Given the description of an element on the screen output the (x, y) to click on. 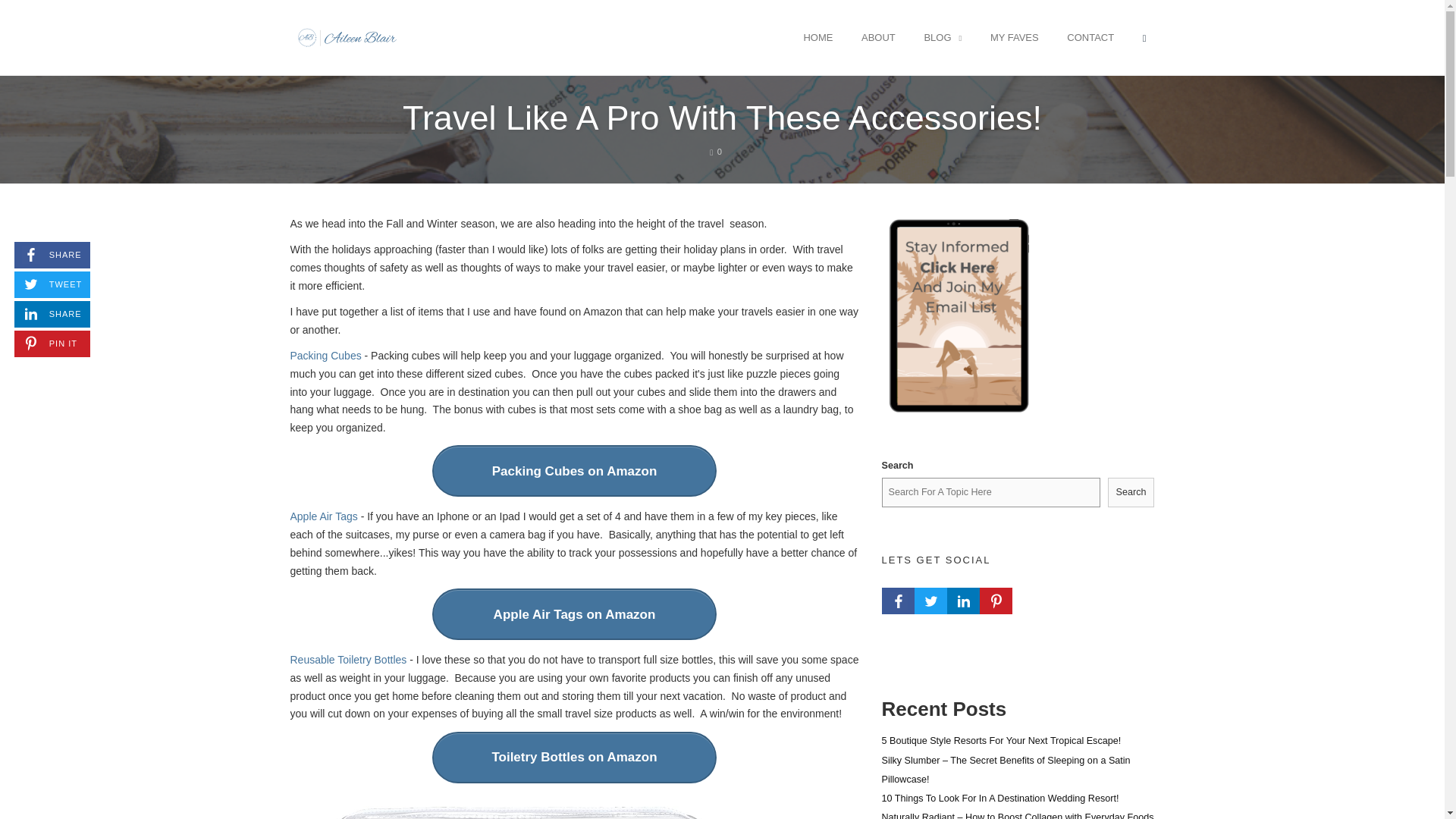
HOME (817, 37)
Travel Like A Pro With These Accessories! (722, 117)
ABOUT (878, 37)
TWITTER PROFILE (930, 601)
Travel Bottles (574, 812)
Toiletry Bottles on Amazon (574, 757)
Packing Cubes on Amazon (574, 470)
LINKEDIN PROFILE (962, 601)
5 Boutique Style Resorts For Your Next Tropical Escape! (1000, 740)
PINTEREST PROFILE (995, 601)
